Given the description of an element on the screen output the (x, y) to click on. 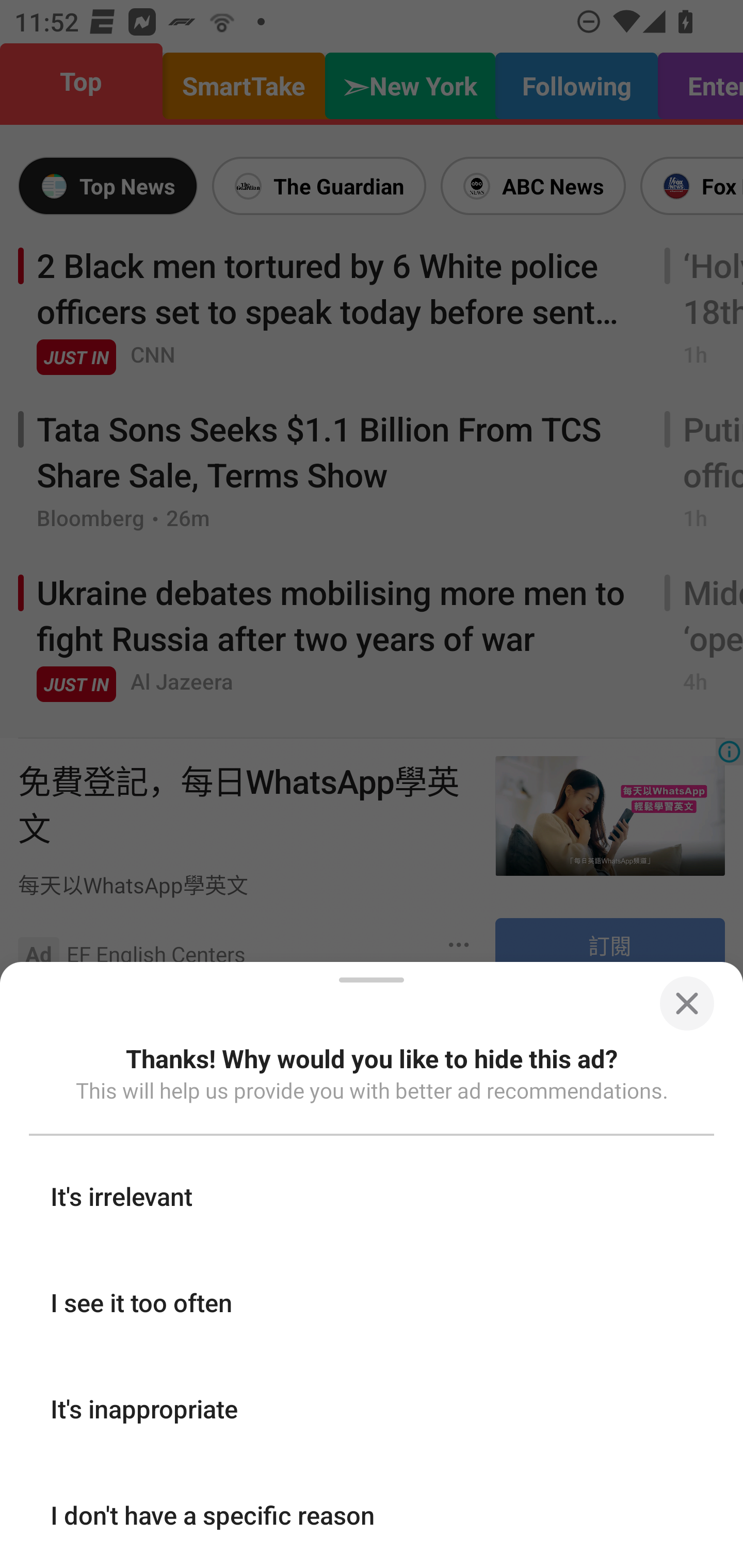
Close bottom sheet (686, 1003)
It's irrelevant (371, 1196)
I see it too often (371, 1301)
It's inappropriate (371, 1407)
I don't have a specific reason (371, 1514)
